Given the description of an element on the screen output the (x, y) to click on. 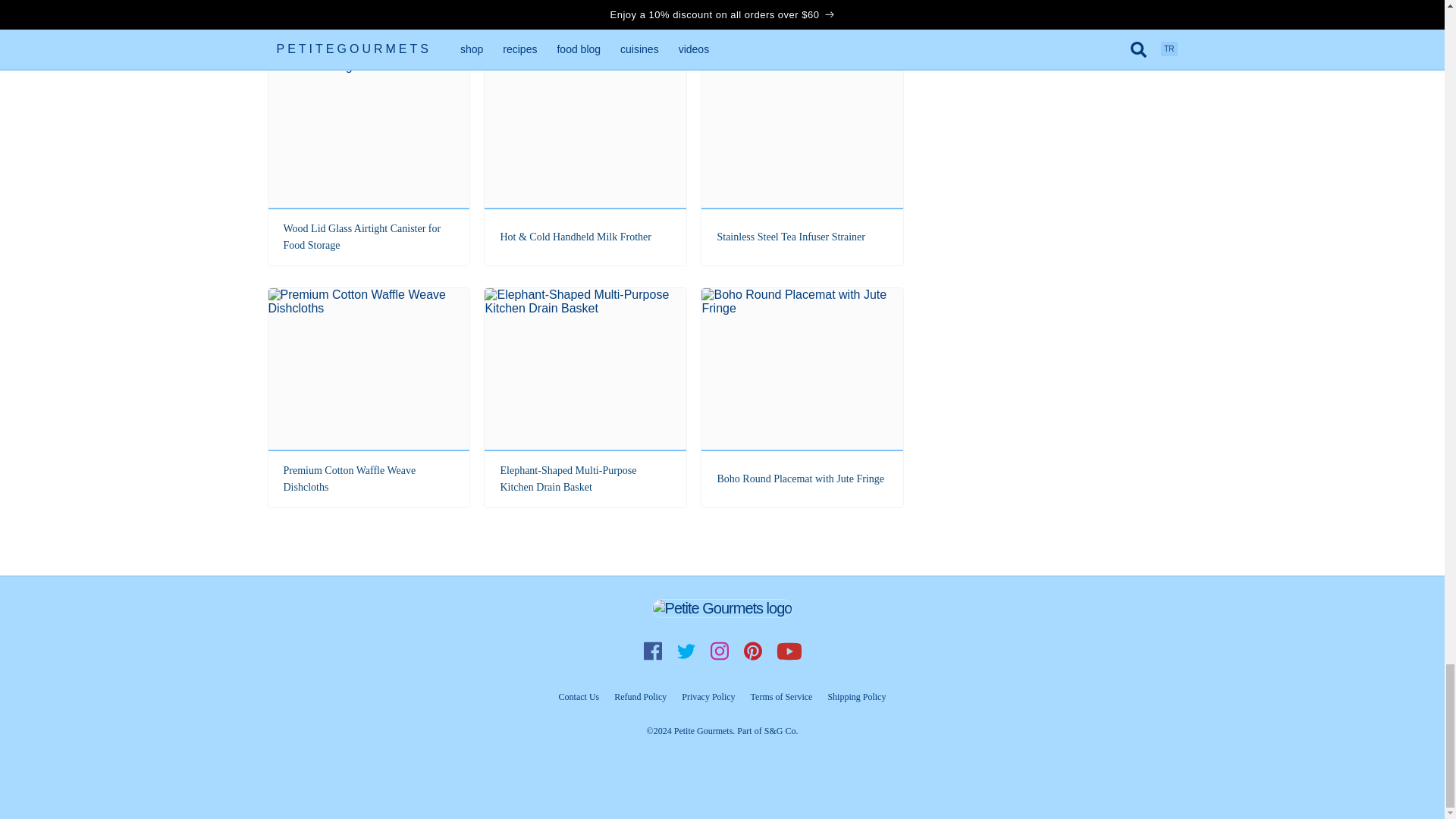
follow us on instagram (718, 651)
follow us on twitter (684, 651)
Wood Lid Glass Airtight Canister for Food Storage (368, 155)
follow us on facebook (651, 651)
follow us on pinterest (751, 651)
Stainless Steel Tea Infuser Strainer (801, 155)
Boho Round Placemat with Jute Fringe (801, 397)
Elephant-Shaped Multi-Purpose Kitchen Drain Basket (584, 397)
Premium Cotton Waffle Weave Dishcloths (368, 397)
subscribe on youtube (788, 651)
